Given the description of an element on the screen output the (x, y) to click on. 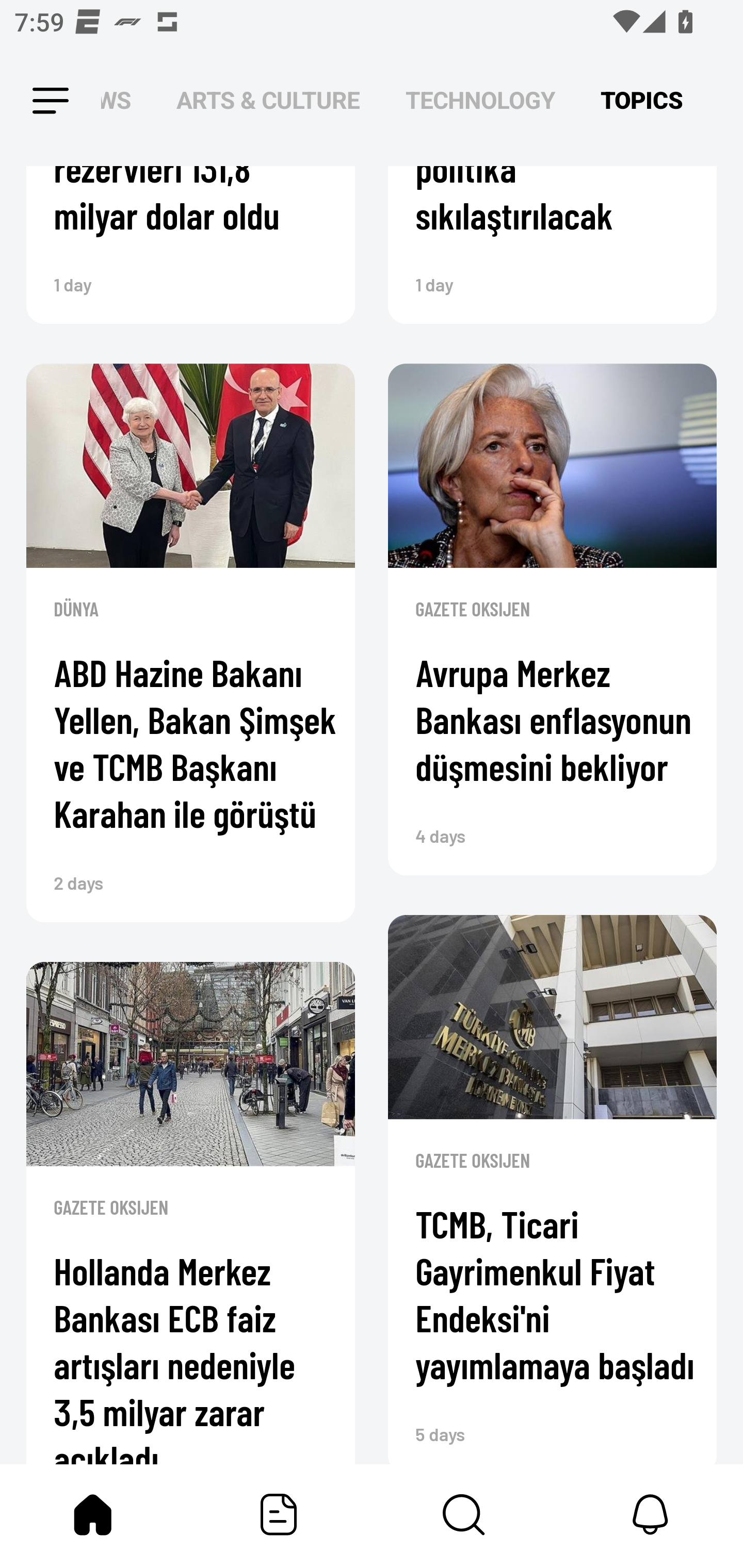
NEWS (121, 100)
ARTS & CULTURE (268, 100)
TECHNOLOGY (480, 100)
Featured (278, 1514)
Content Store (464, 1514)
Notifications (650, 1514)
